Given the description of an element on the screen output the (x, y) to click on. 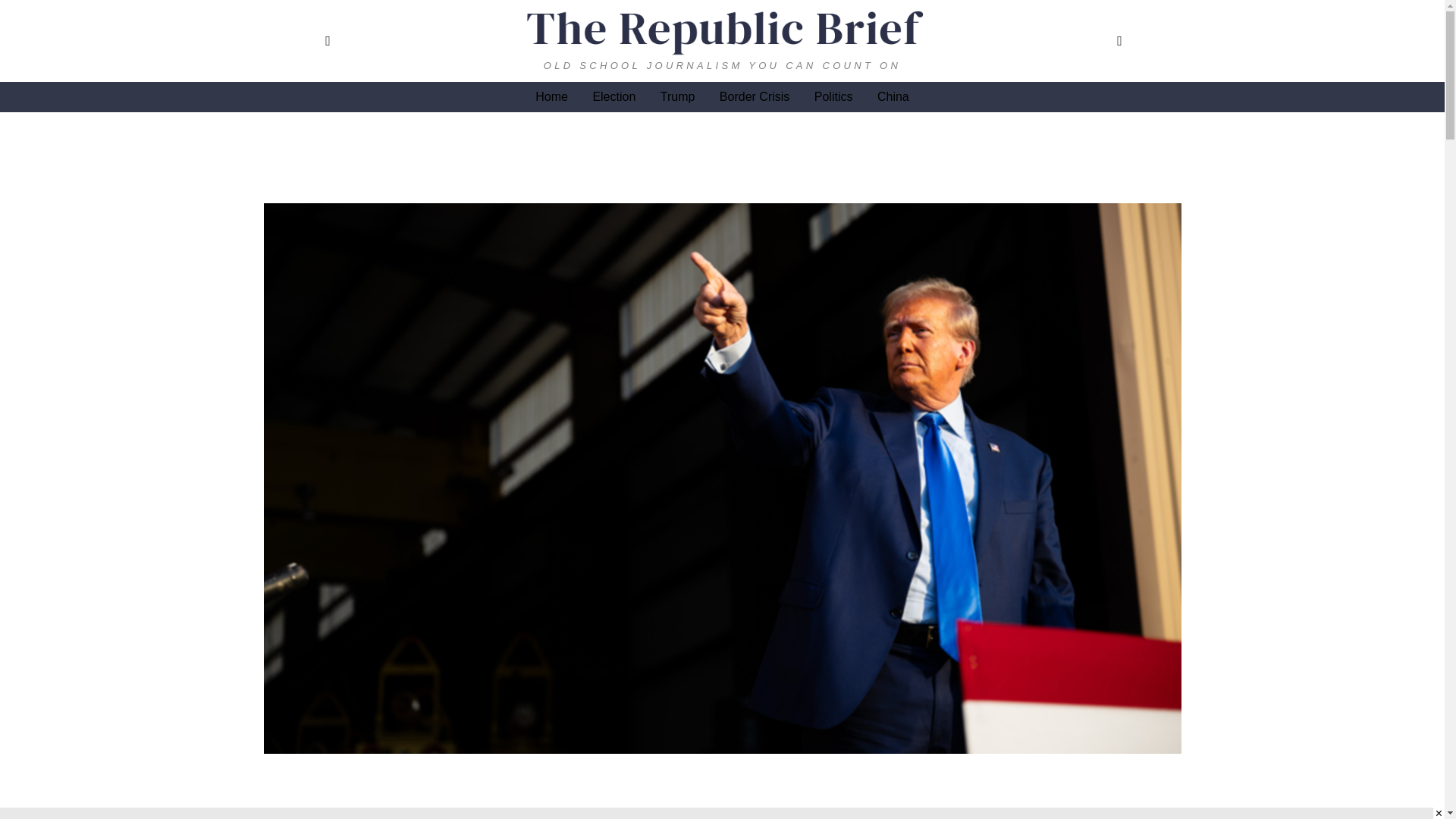
Border Crisis (754, 96)
China (893, 96)
Home (551, 96)
Election (613, 96)
Politics (833, 96)
Trump (677, 96)
